Given the description of an element on the screen output the (x, y) to click on. 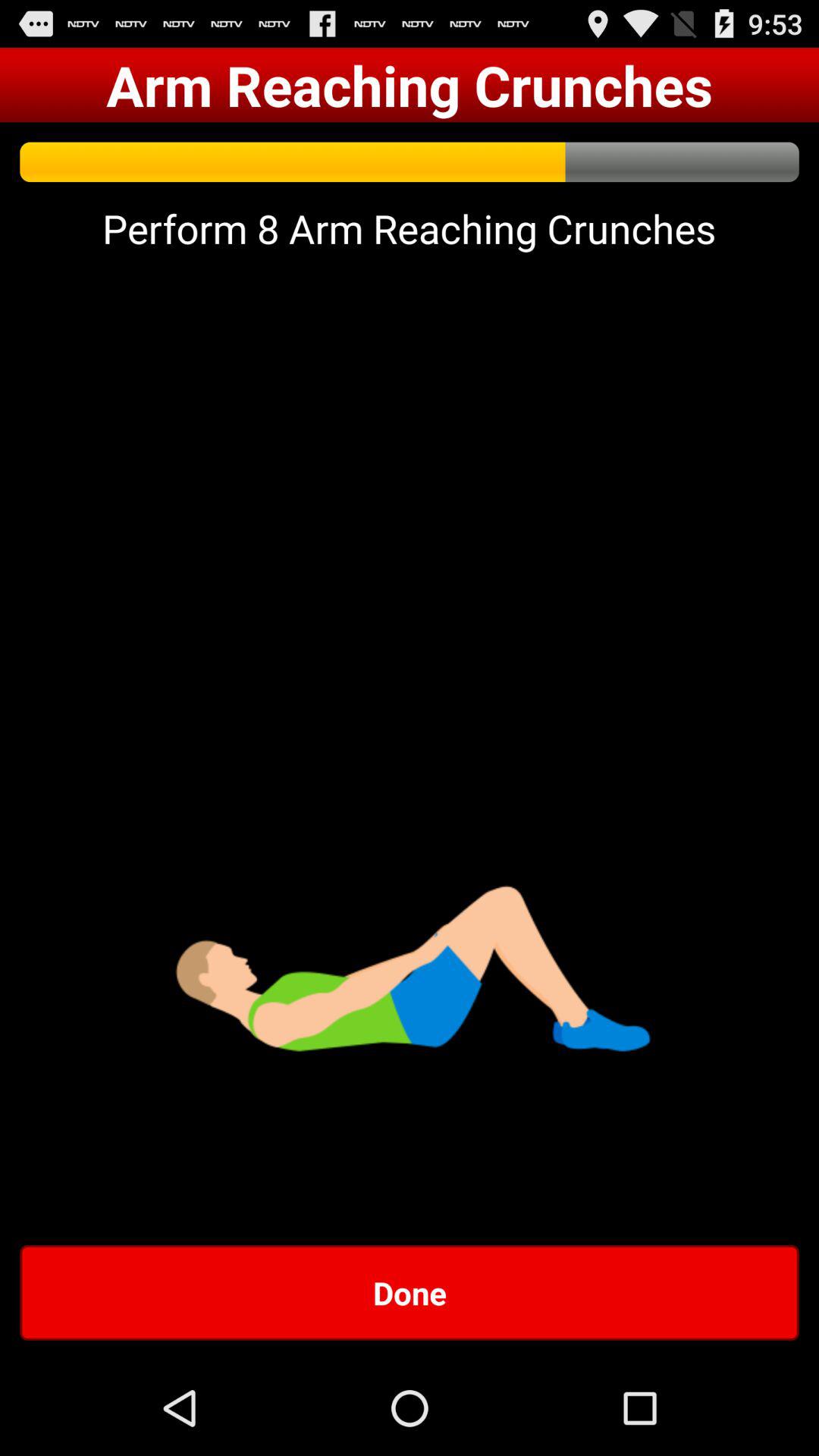
choose item at the bottom (409, 1292)
